Given the description of an element on the screen output the (x, y) to click on. 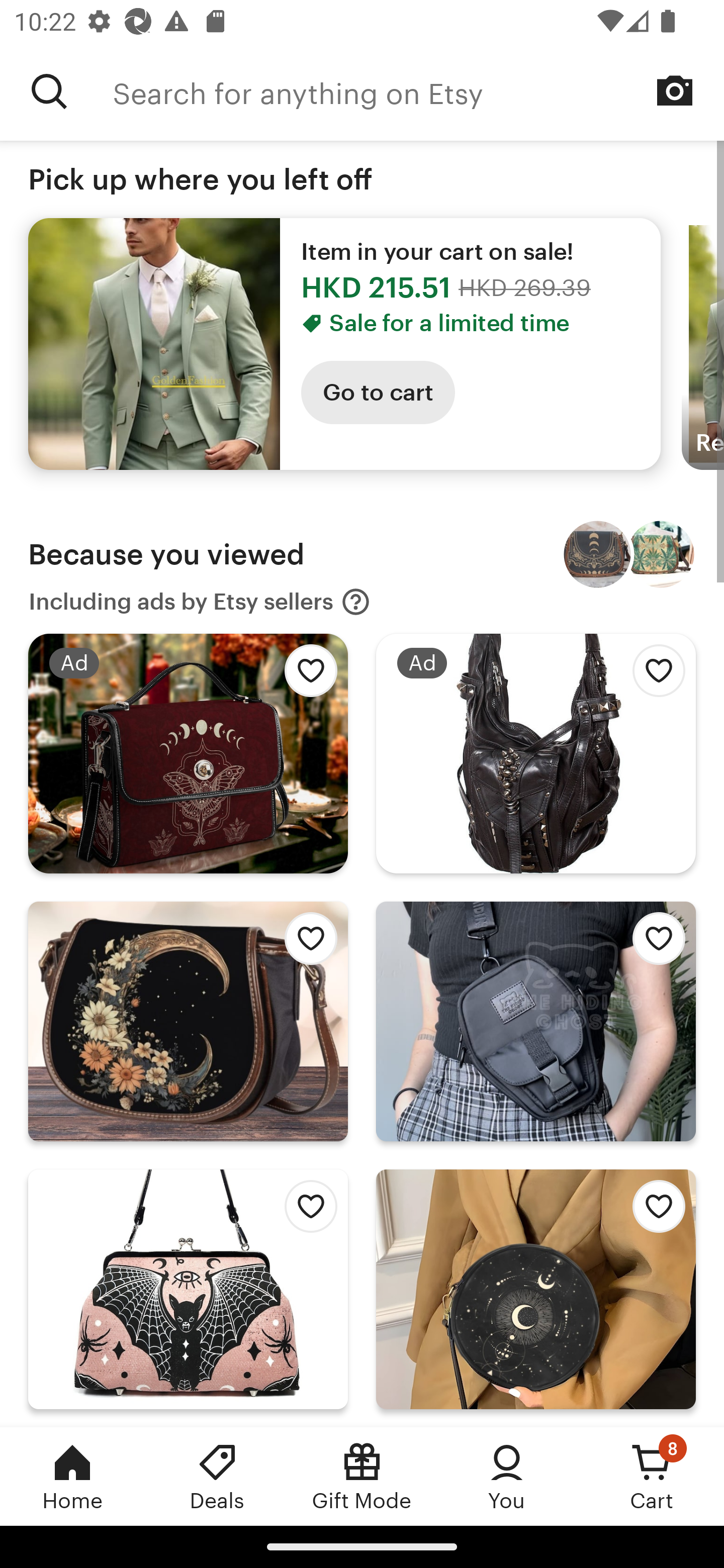
Search for anything on Etsy (49, 91)
Search by image (674, 90)
Search for anything on Etsy (418, 91)
Including ads by Etsy sellers (199, 601)
Deals (216, 1475)
Gift Mode (361, 1475)
You (506, 1475)
Cart, 8 new notifications Cart (651, 1475)
